Given the description of an element on the screen output the (x, y) to click on. 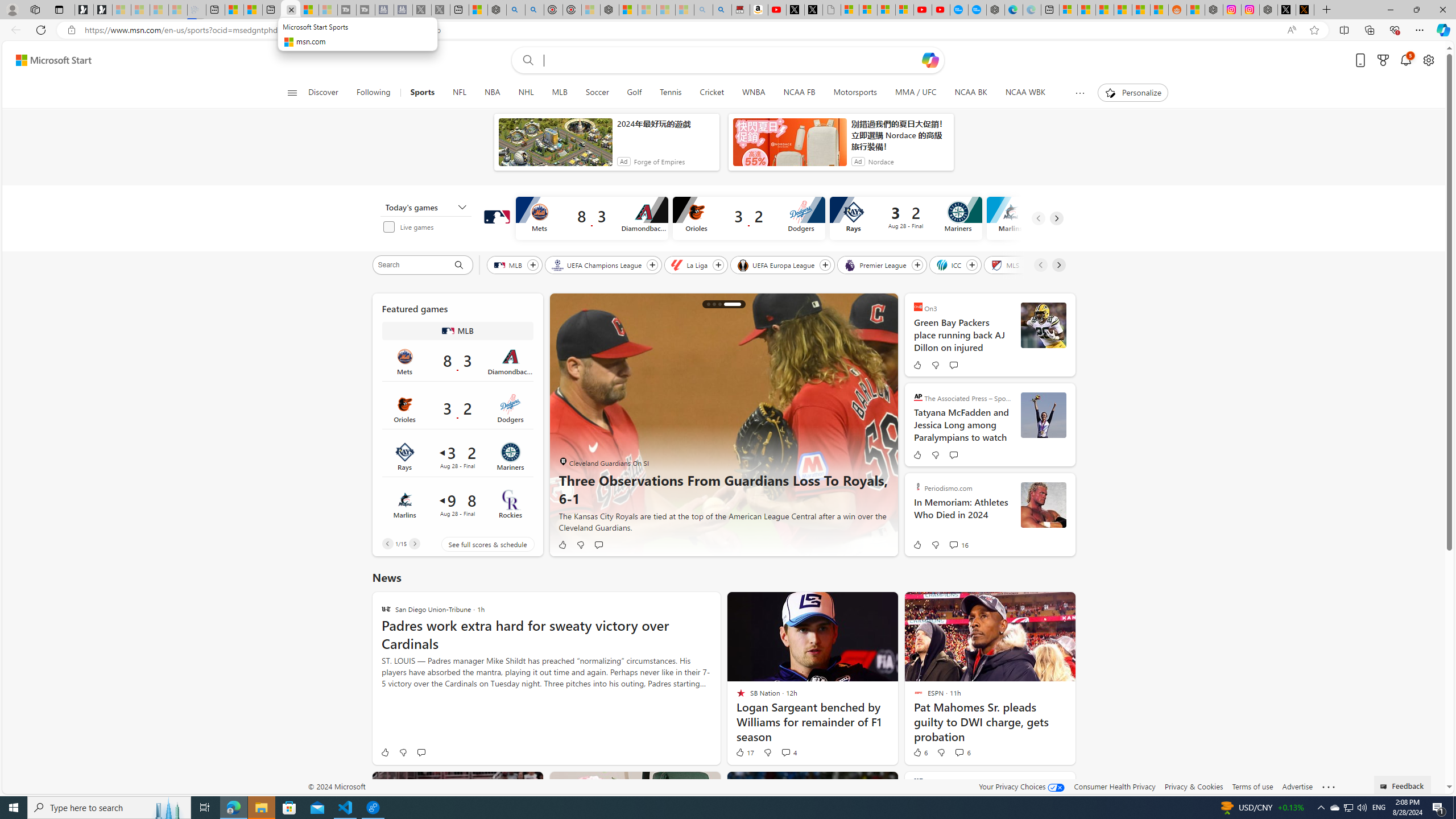
NCAA FB (799, 92)
La Liga (690, 264)
Cricket (710, 92)
Terms of use (1252, 785)
MMA / UFC (915, 92)
NHL (526, 92)
MLS (1005, 264)
Personalize (1132, 92)
poe ++ standard - Search (533, 9)
